Given the description of an element on the screen output the (x, y) to click on. 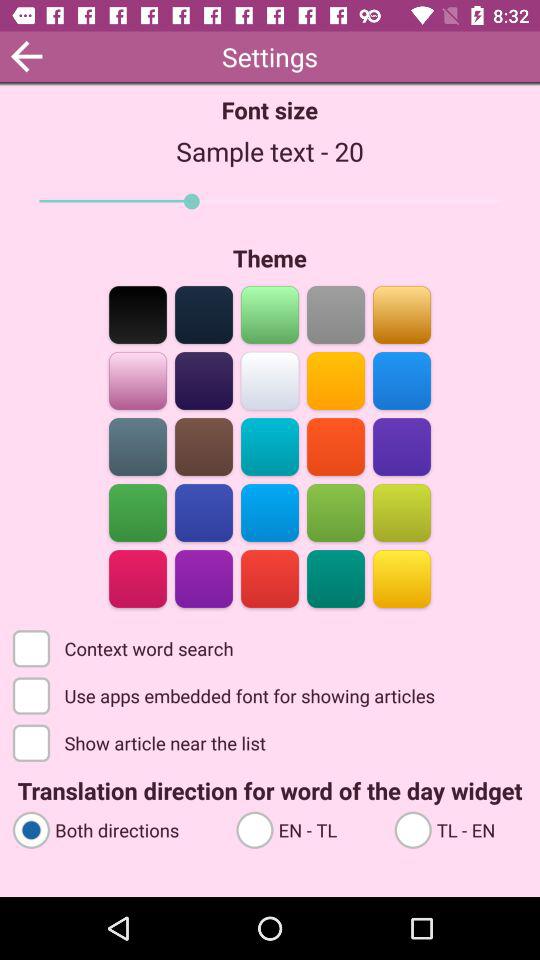
click item above the use apps embedded checkbox (124, 647)
